Given the description of an element on the screen output the (x, y) to click on. 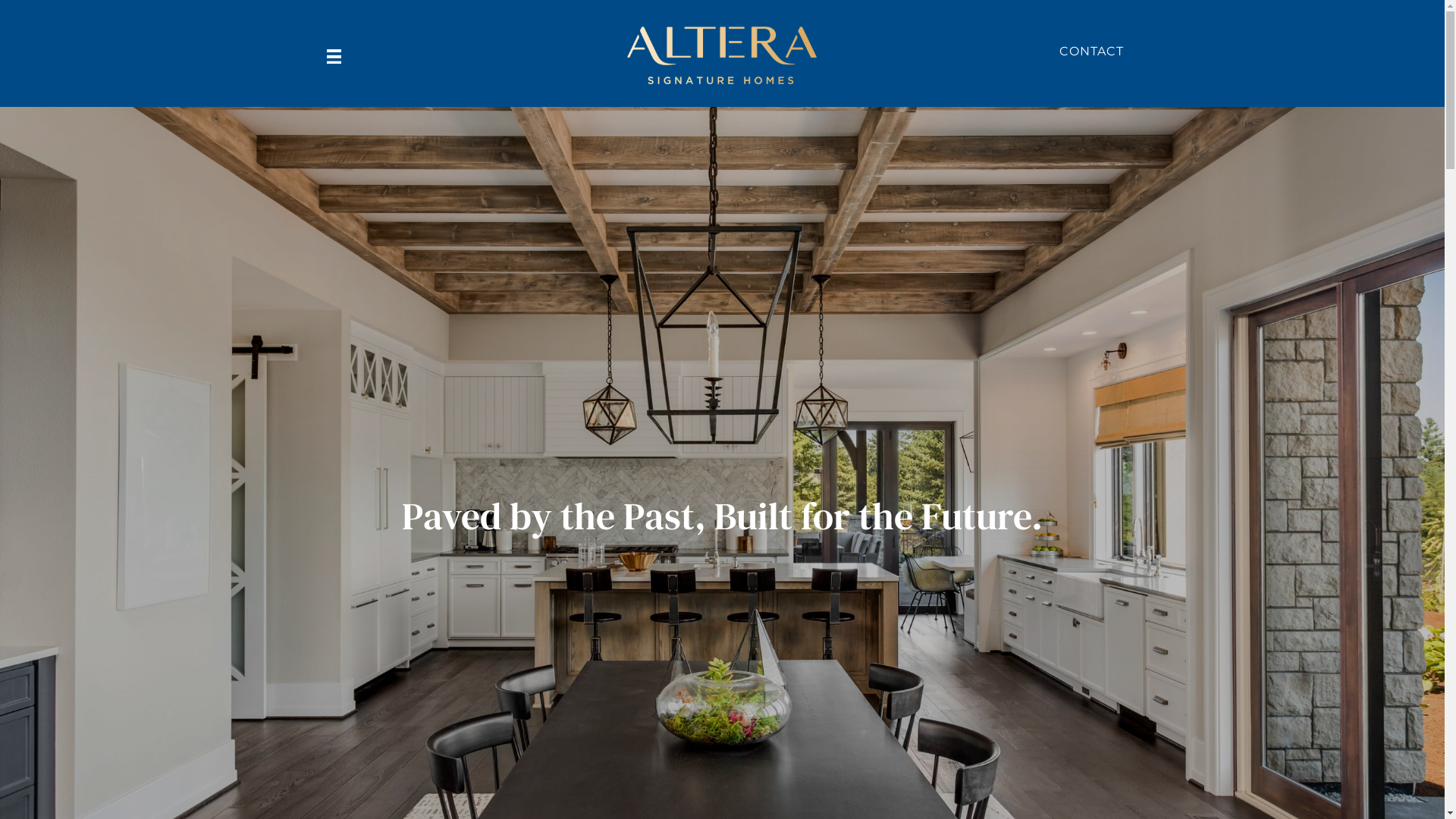
CONTACT Element type: text (1091, 50)
Altera_Logo_Gold-01@2x Element type: hover (721, 55)
